Given the description of an element on the screen output the (x, y) to click on. 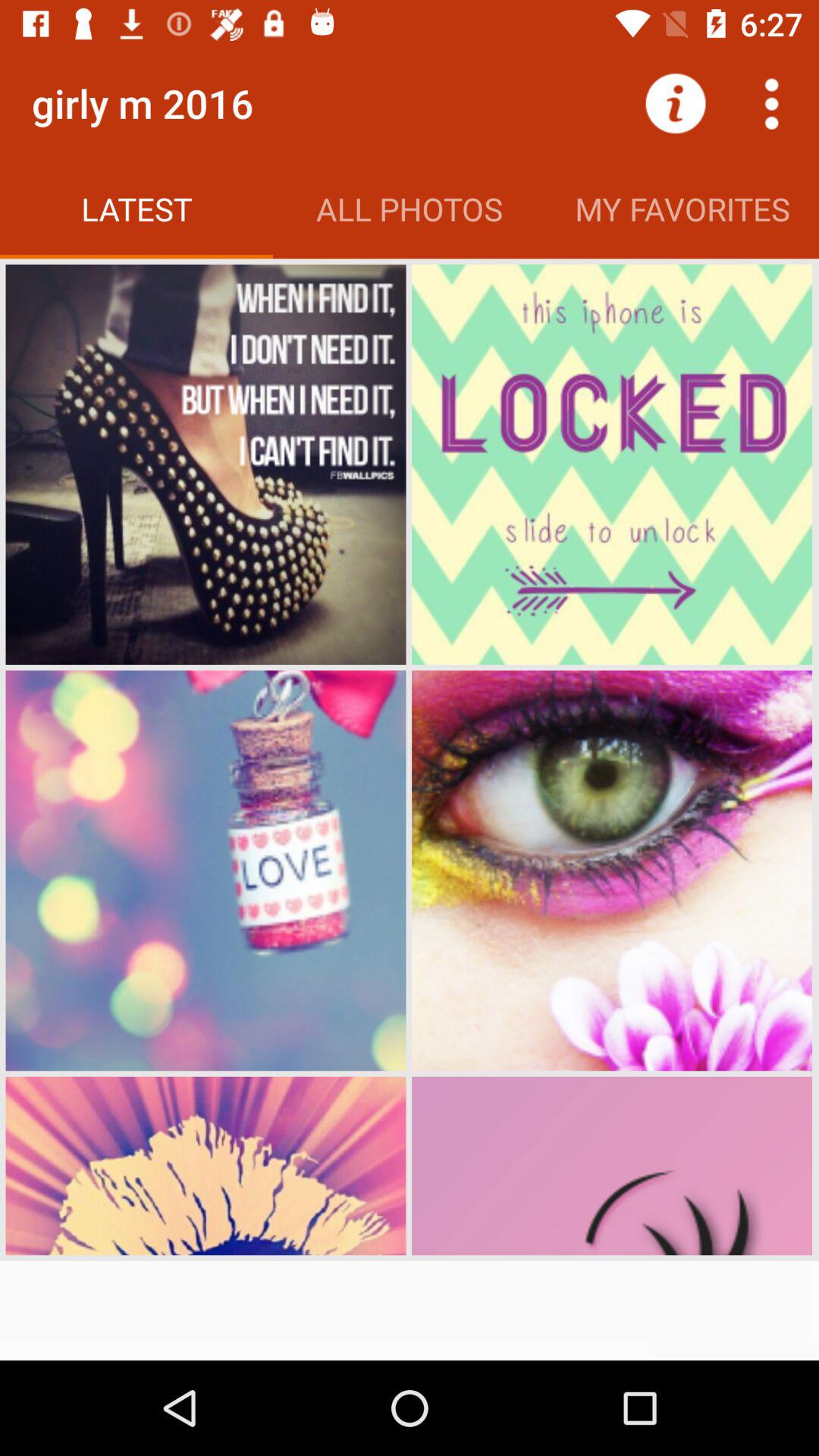
more options (771, 103)
